Given the description of an element on the screen output the (x, y) to click on. 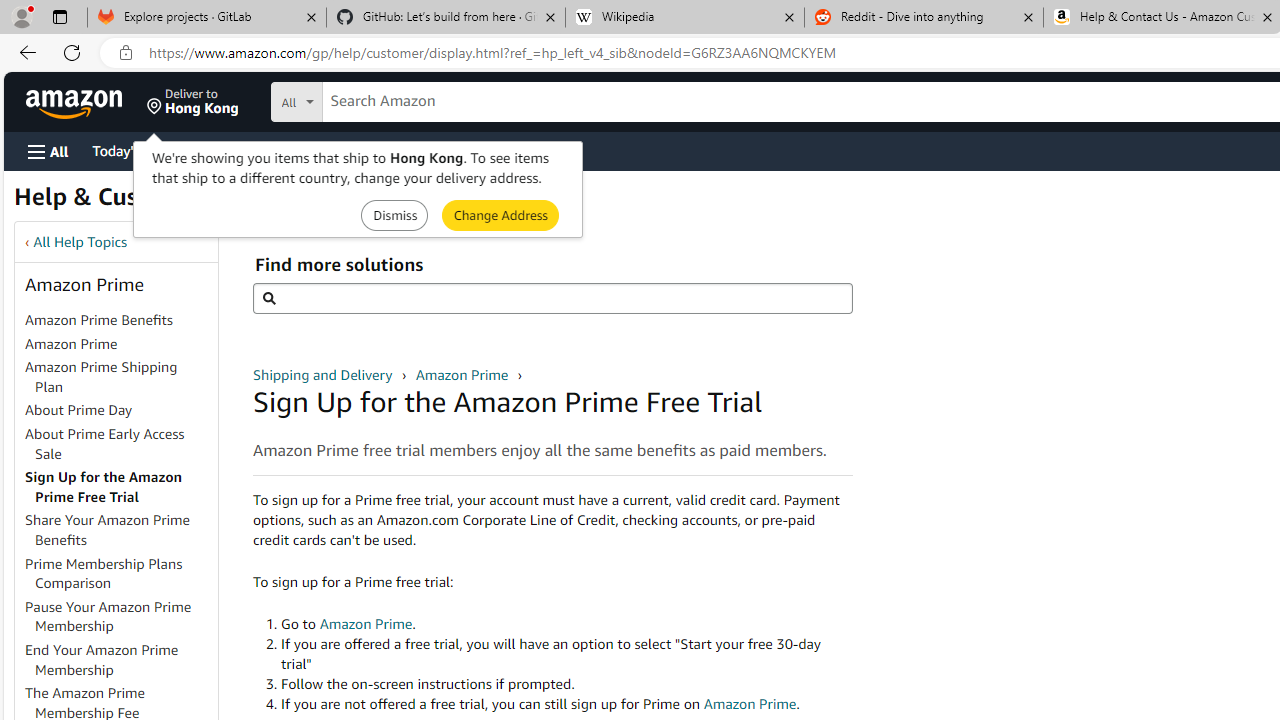
Amazon Prime Shipping Plan (120, 377)
Prime Membership Plans Comparison (120, 573)
Amazon Prime  (463, 374)
Today's Deals (134, 150)
Shipping and Delivery  (324, 374)
Amazon Prime Benefits (120, 321)
Deliver to Hong Kong (193, 101)
Reddit - Dive into anything (924, 17)
About Prime Day (120, 411)
Share Your Amazon Prime Benefits (120, 530)
Help & Customer Service (154, 201)
Search in (371, 99)
